Given the description of an element on the screen output the (x, y) to click on. 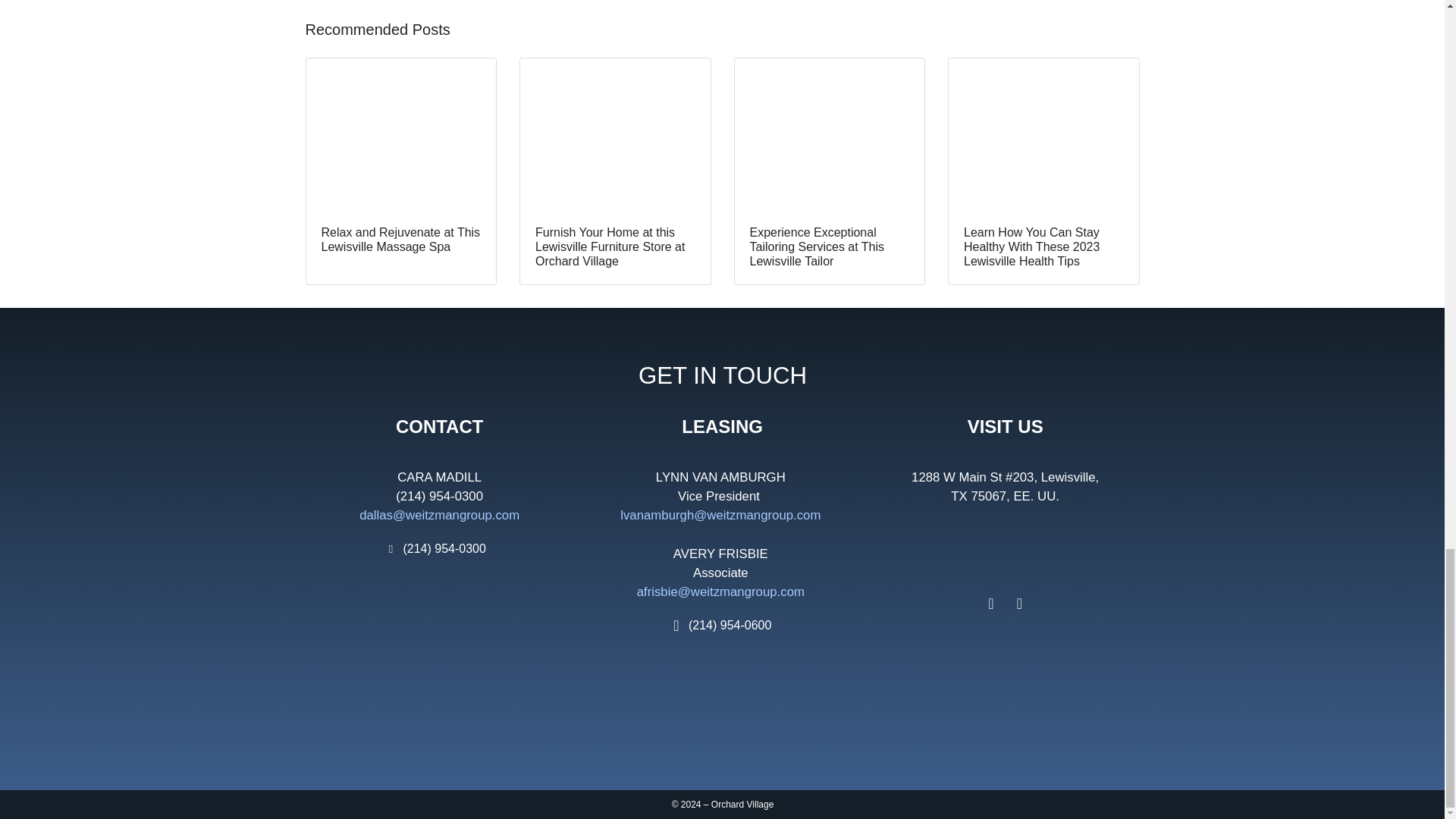
Relax and Rejuvenate at This Lewisville Massage Spa 3 (400, 133)
